Given the description of an element on the screen output the (x, y) to click on. 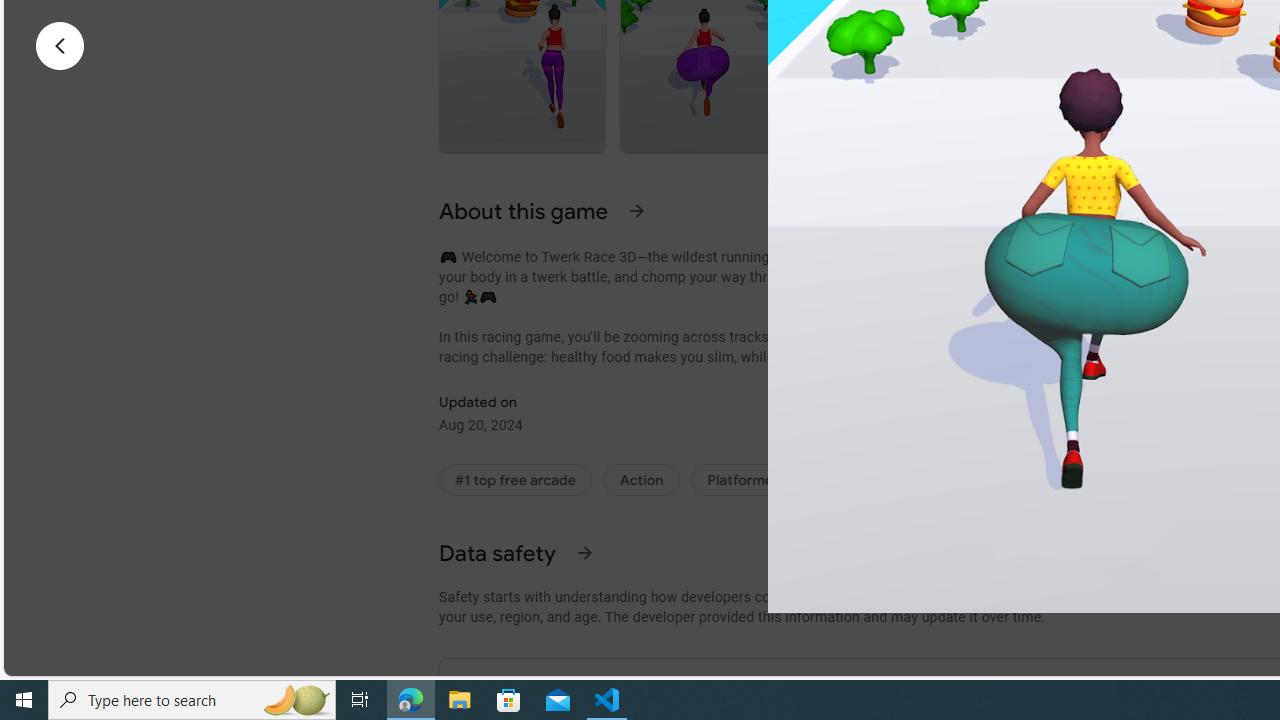
Previous (59, 45)
Platformer (743, 480)
Offline (1160, 480)
Stylized (1066, 480)
#1 top free arcade (515, 479)
Casual (845, 480)
Single player (953, 480)
See more information on About this game (637, 210)
Action (640, 480)
See more information on Data safety (584, 552)
